Given the description of an element on the screen output the (x, y) to click on. 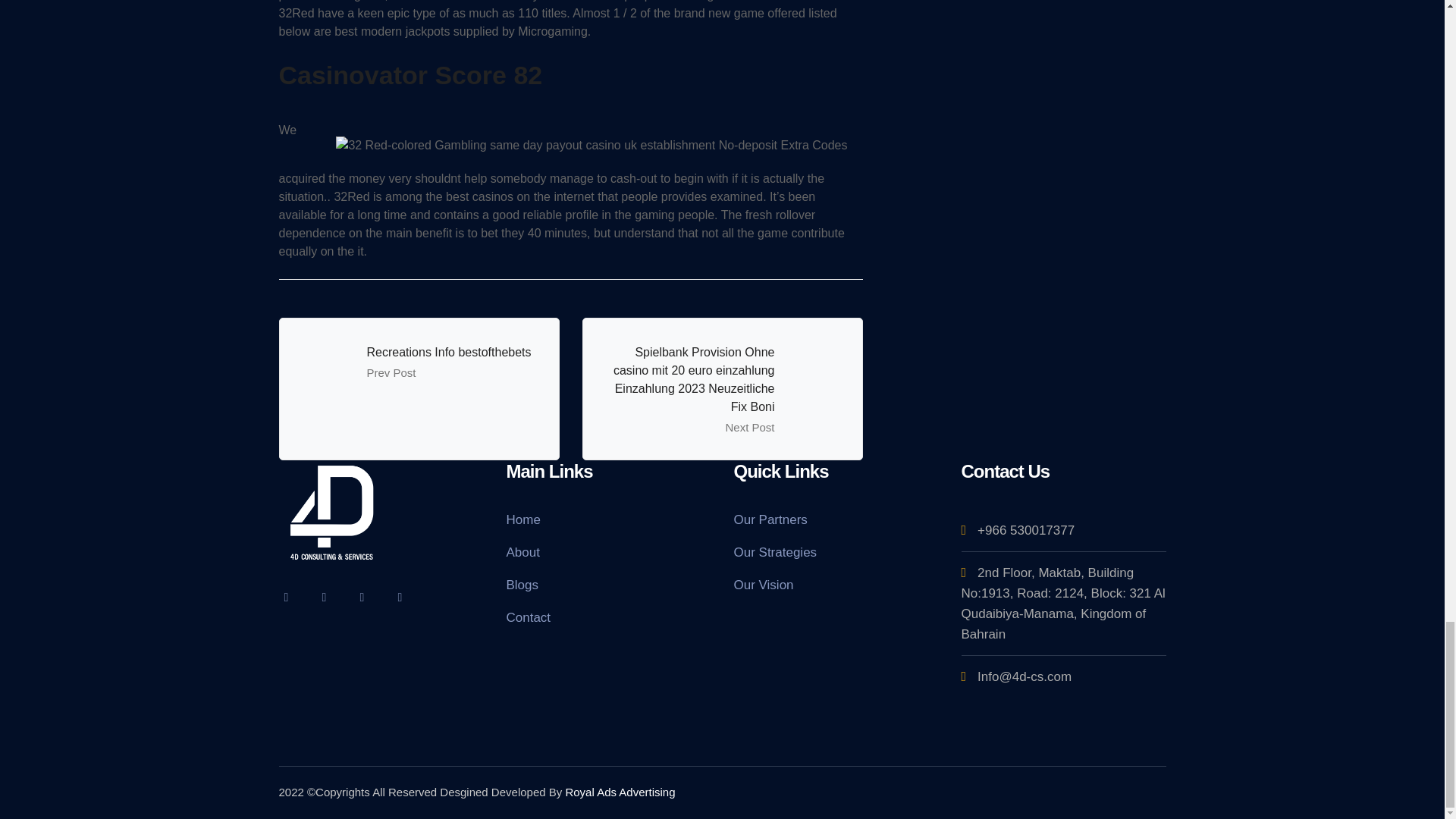
linkedin-in (362, 596)
Prev Post (391, 372)
facebook-f (324, 596)
Recreations Info bestofthebets (448, 351)
Next Post (749, 427)
instagram (400, 596)
twitter (286, 596)
